Given the description of an element on the screen output the (x, y) to click on. 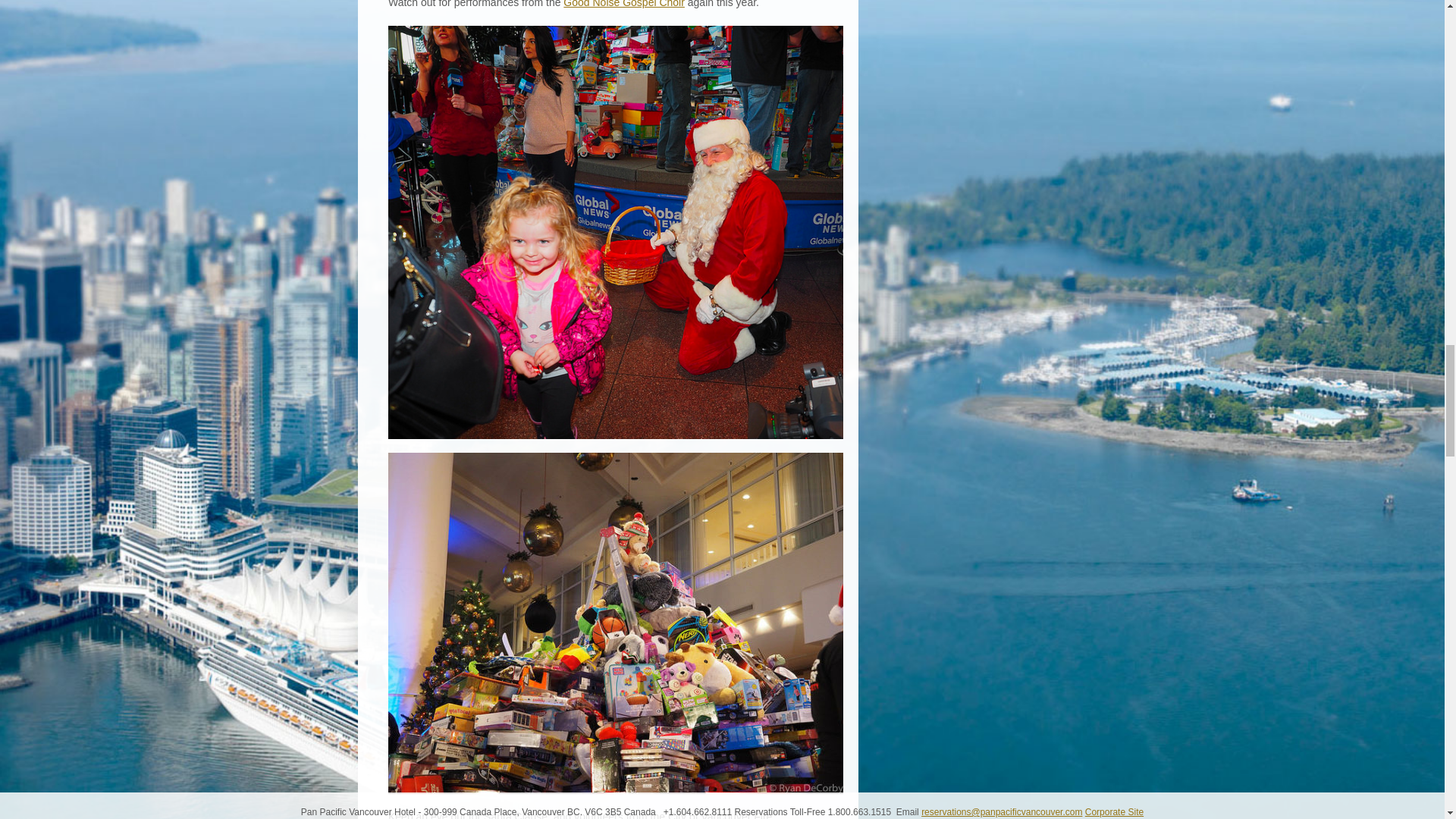
Good Noise Gospel Choir (623, 4)
